Given the description of an element on the screen output the (x, y) to click on. 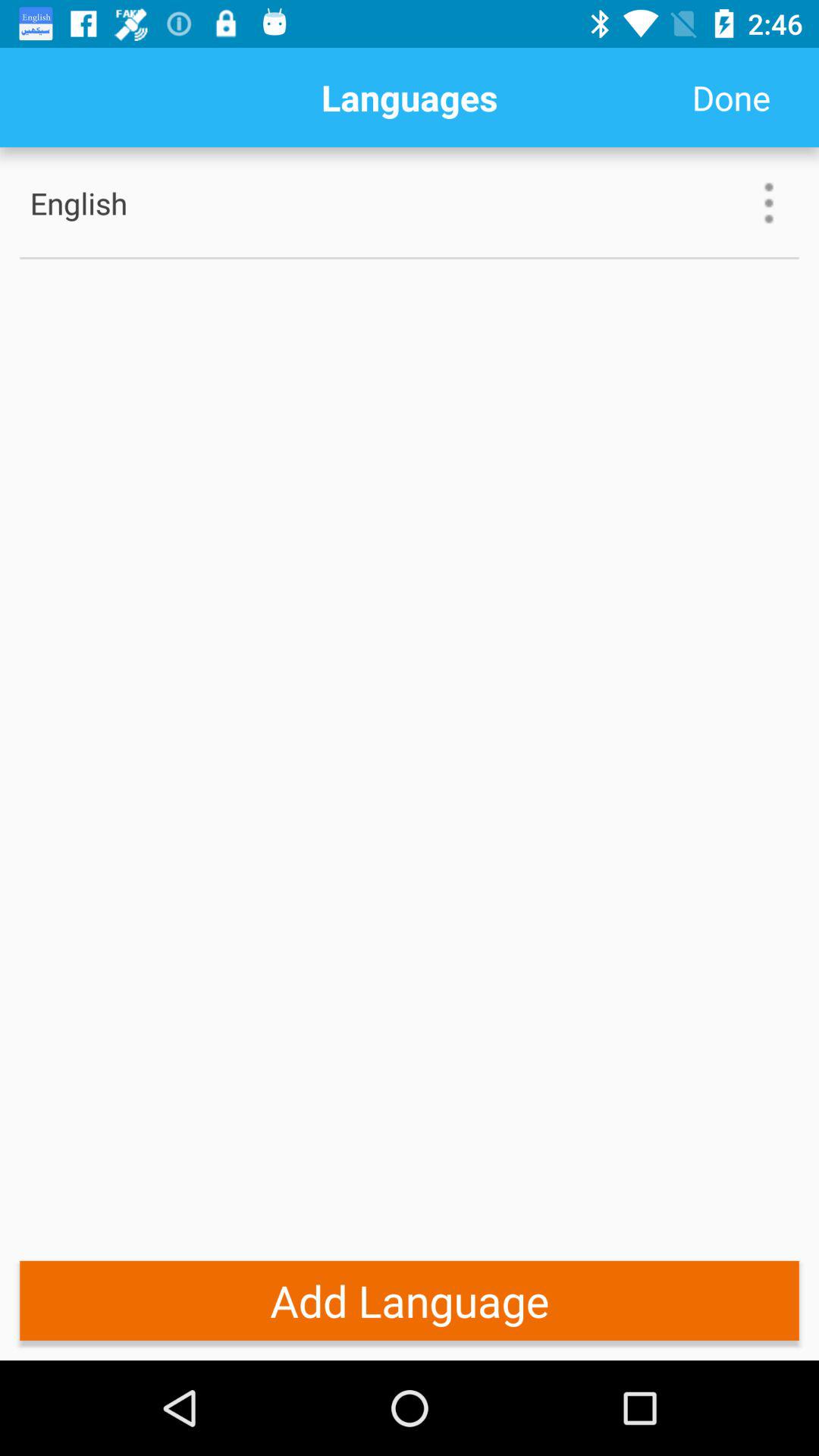
press app to the right of the languages (731, 97)
